Given the description of an element on the screen output the (x, y) to click on. 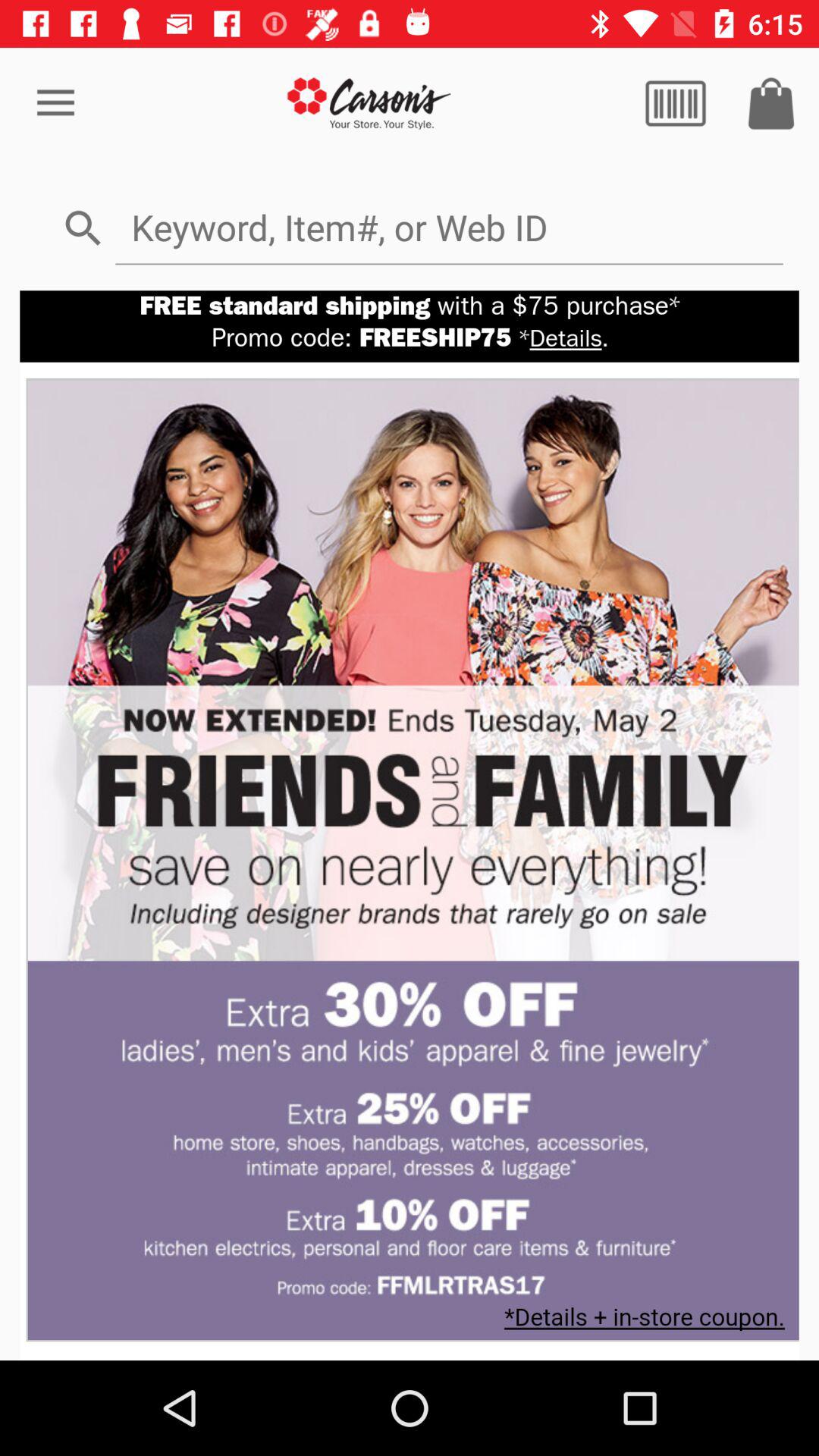
go store home page (369, 103)
